Given the description of an element on the screen output the (x, y) to click on. 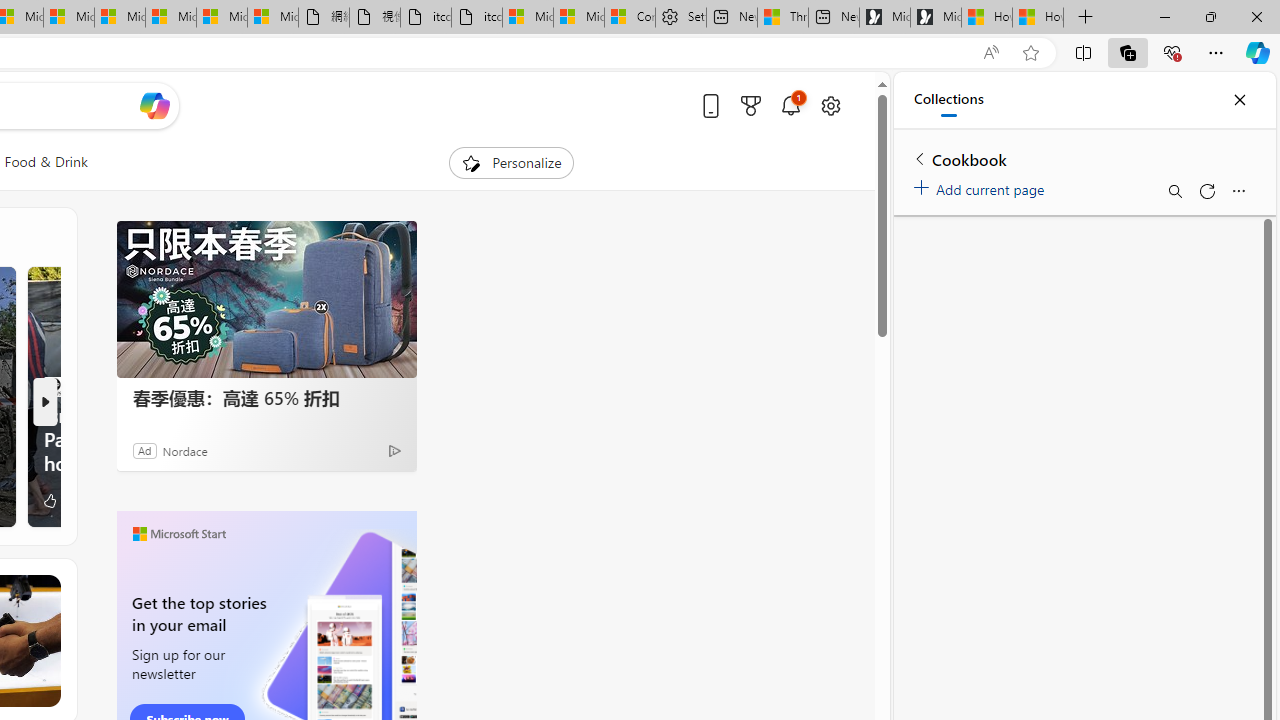
Three Ways To Stop Sweating So Much (782, 17)
69 Like (58, 500)
